Given the description of an element on the screen output the (x, y) to click on. 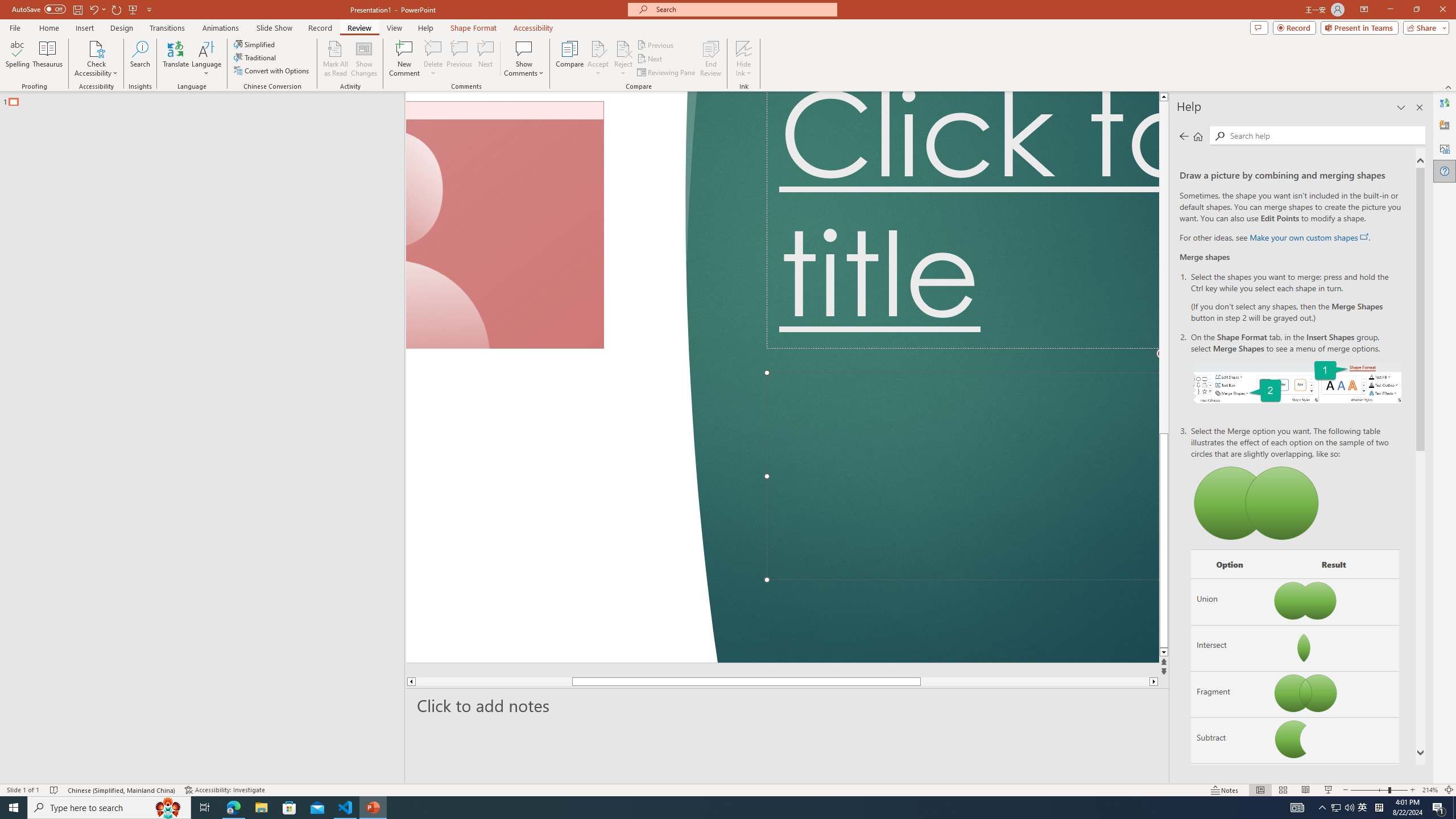
Next (649, 58)
Reject (622, 58)
